Given the description of an element on the screen output the (x, y) to click on. 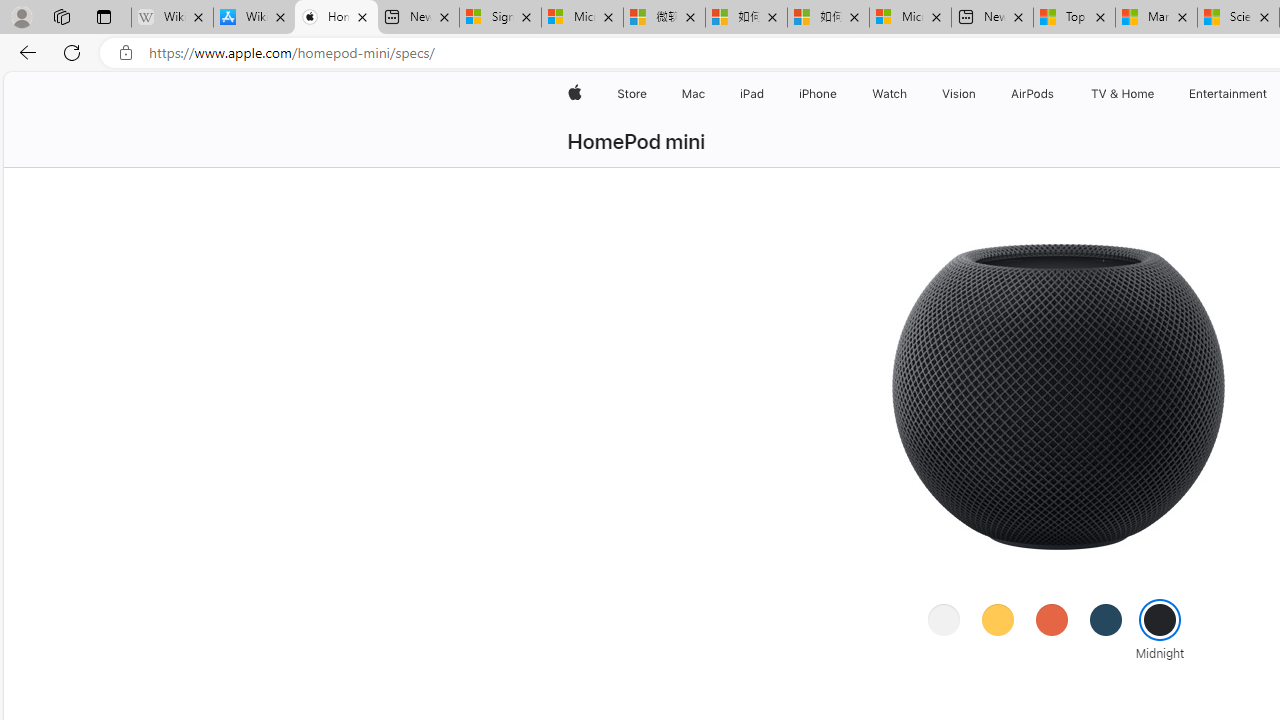
Store menu (649, 93)
Class: globalnav-submenu-trigger-item (1157, 93)
Orange (1051, 619)
iPhone (818, 93)
Store (631, 93)
Yellow (997, 619)
